Given the description of an element on the screen output the (x, y) to click on. 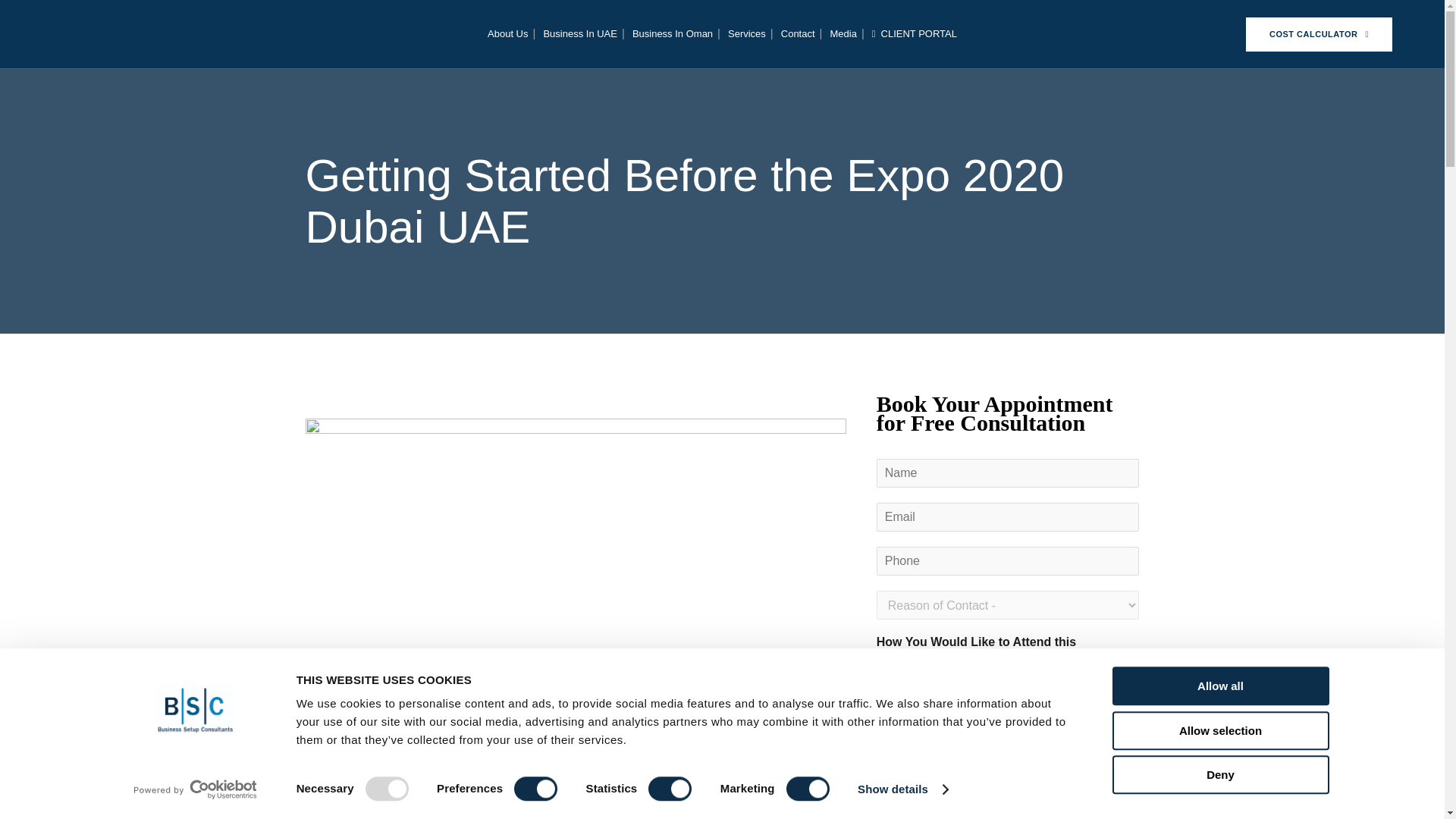
Online (950, 677)
Office (884, 677)
Deny (1219, 774)
Allow selection (1219, 730)
Business in UAE (580, 33)
Show details (902, 789)
Allow all (1219, 685)
